Given the description of an element on the screen output the (x, y) to click on. 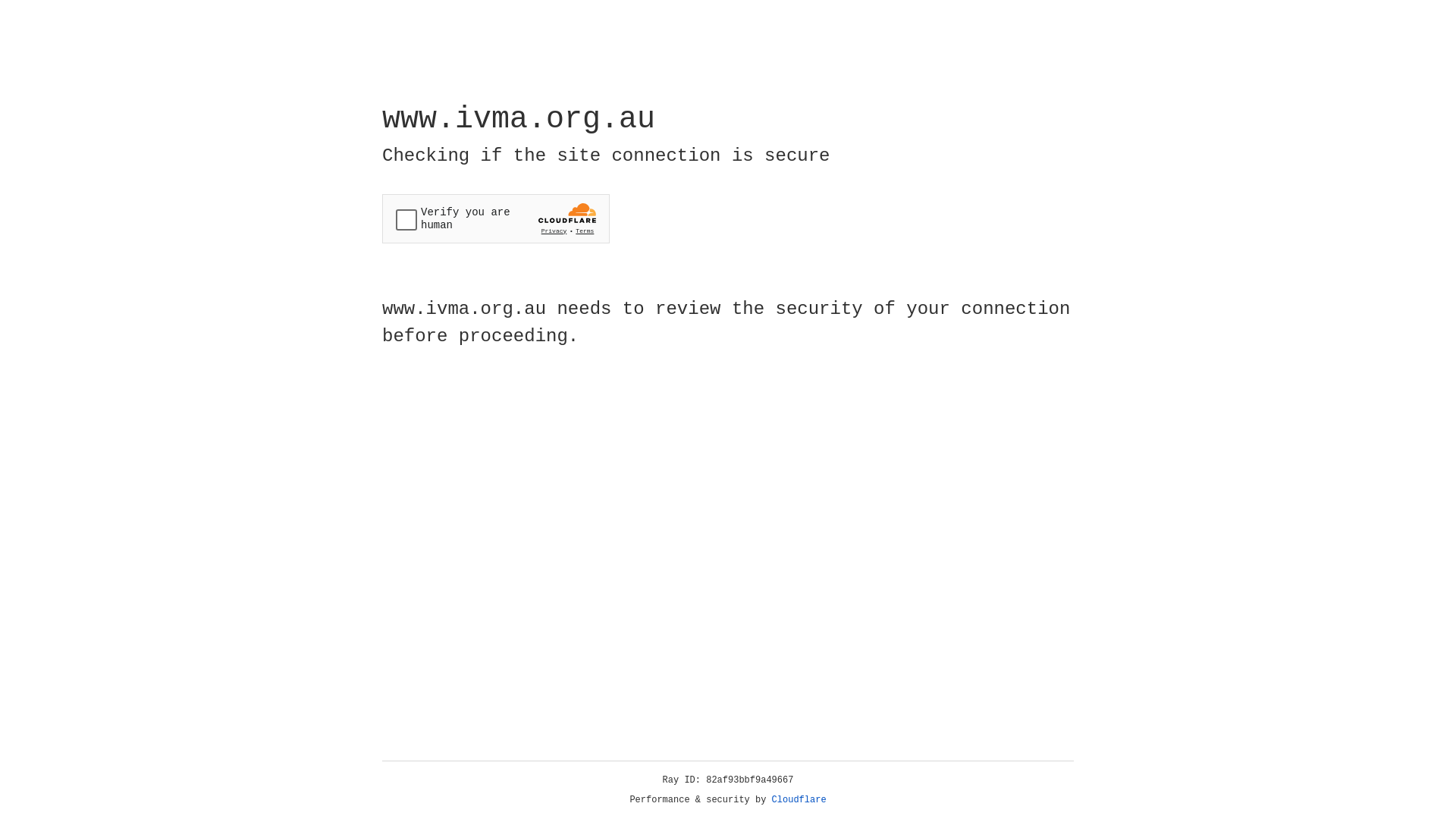
Widget containing a Cloudflare security challenge Element type: hover (495, 218)
Cloudflare Element type: text (798, 799)
